Given the description of an element on the screen output the (x, y) to click on. 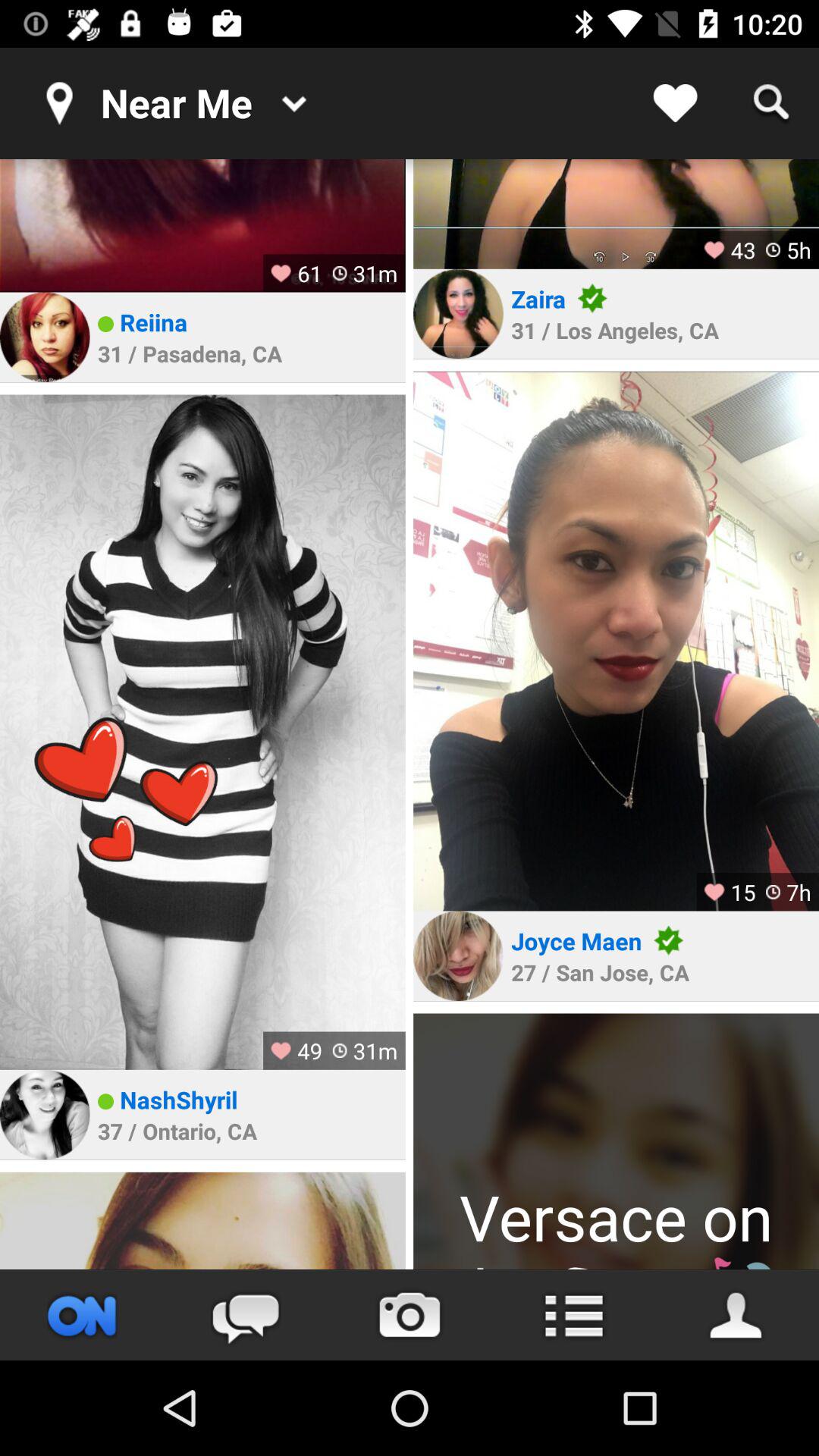
open options menu (573, 1315)
